Given the description of an element on the screen output the (x, y) to click on. 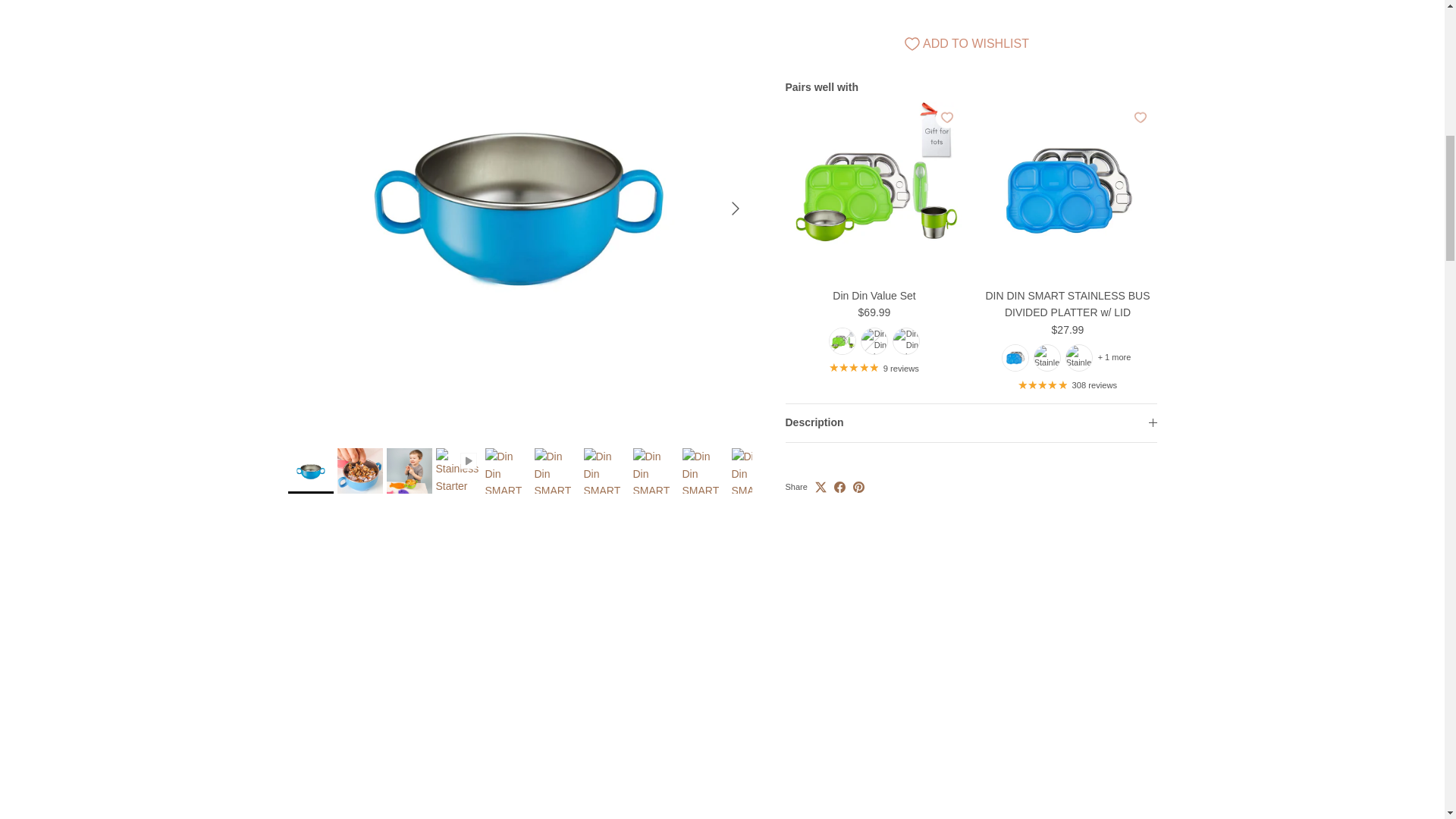
Pin on Pinterest (858, 468)
Share on Facebook (839, 468)
Tweet on X (821, 468)
